Given the description of an element on the screen output the (x, y) to click on. 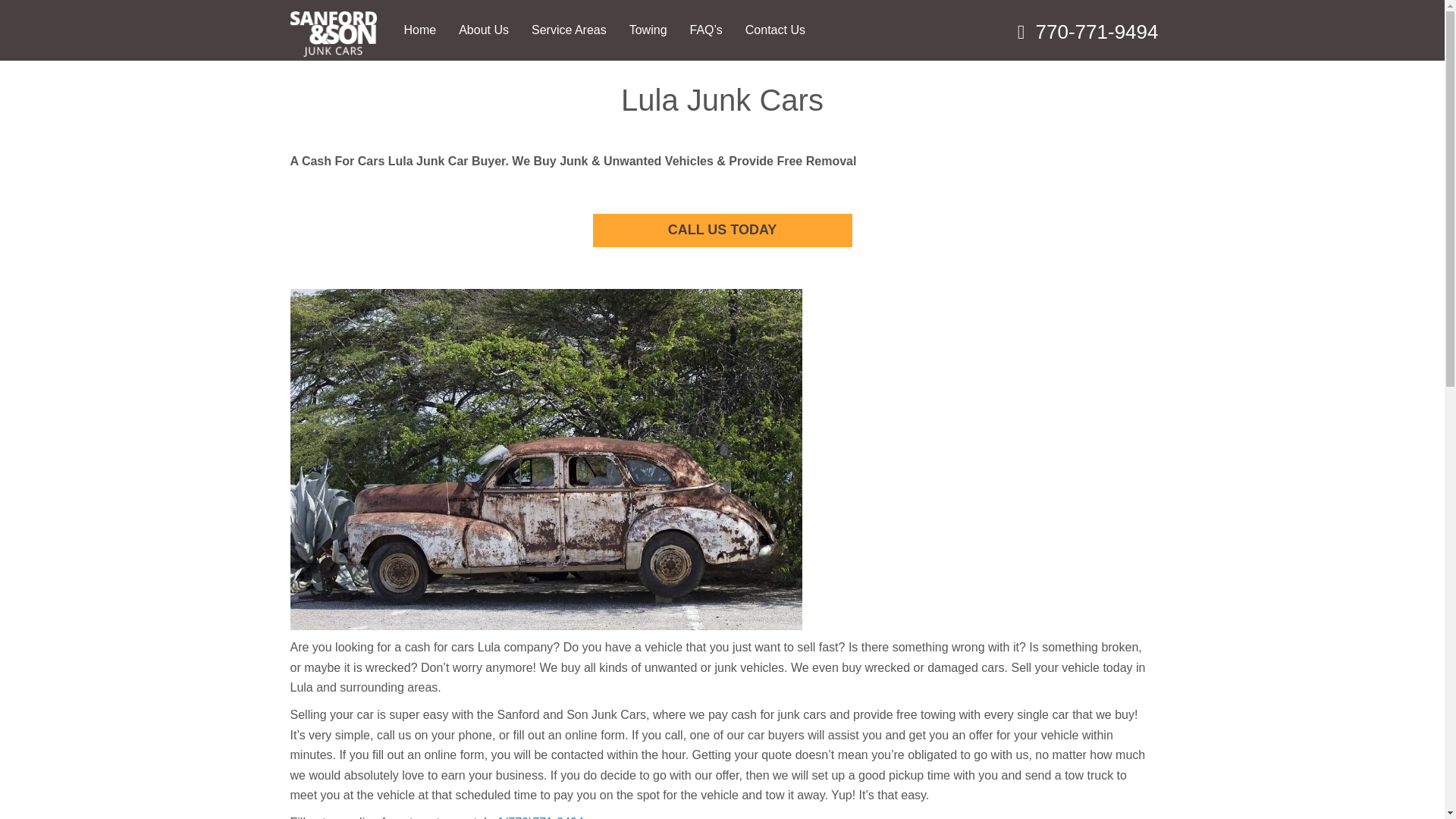
CALL US TODAY (721, 230)
Home (420, 30)
Home (420, 30)
CALL US TODAY (721, 229)
770-771-9494 (1096, 30)
Contact Us (774, 30)
Service Areas (568, 30)
Towing (647, 30)
Contact Us (774, 30)
Service Areas (568, 30)
About Us (482, 30)
Towing (647, 30)
About Us (482, 30)
